Given the description of an element on the screen output the (x, y) to click on. 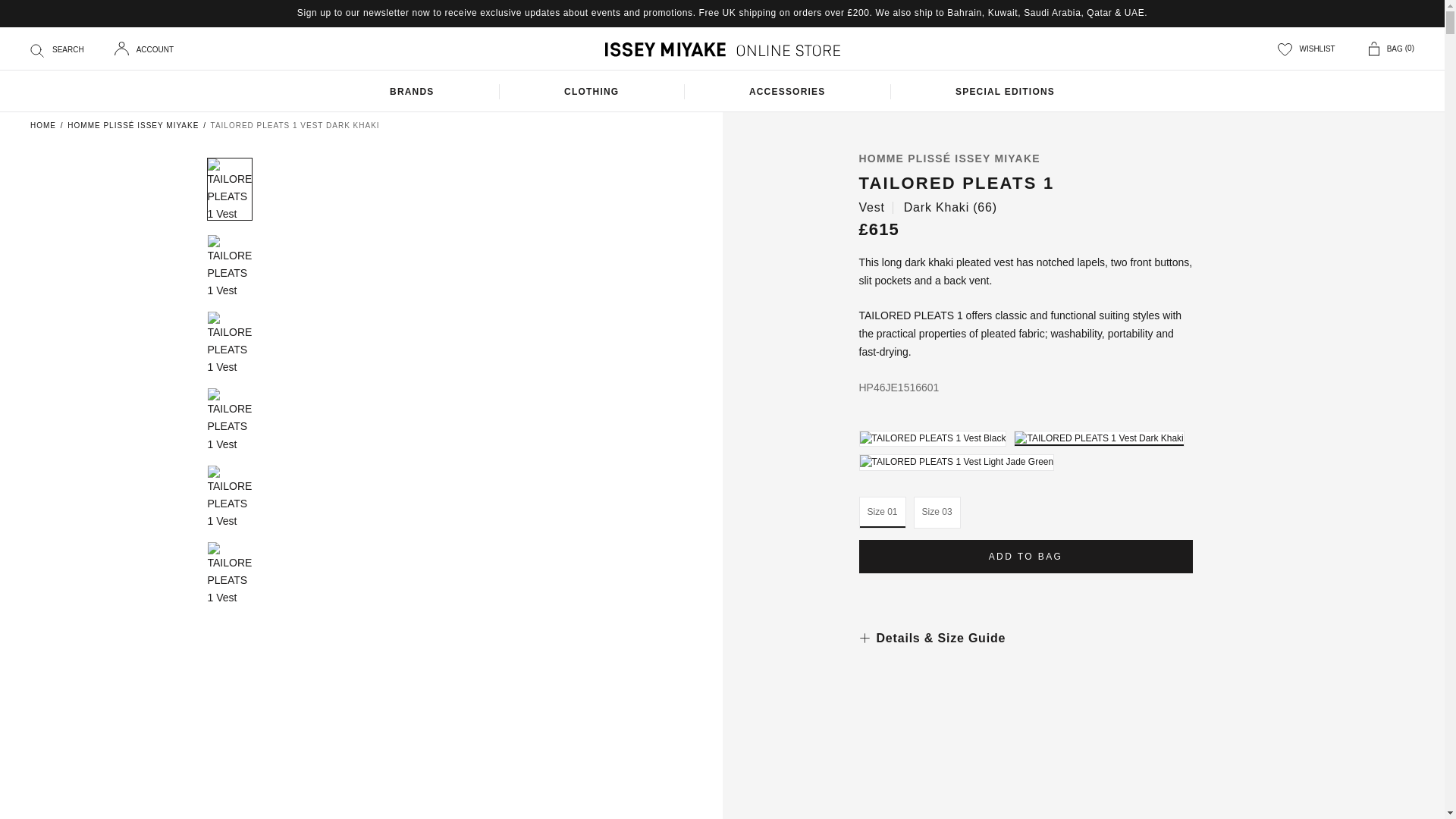
Home (43, 125)
